Given the description of an element on the screen output the (x, y) to click on. 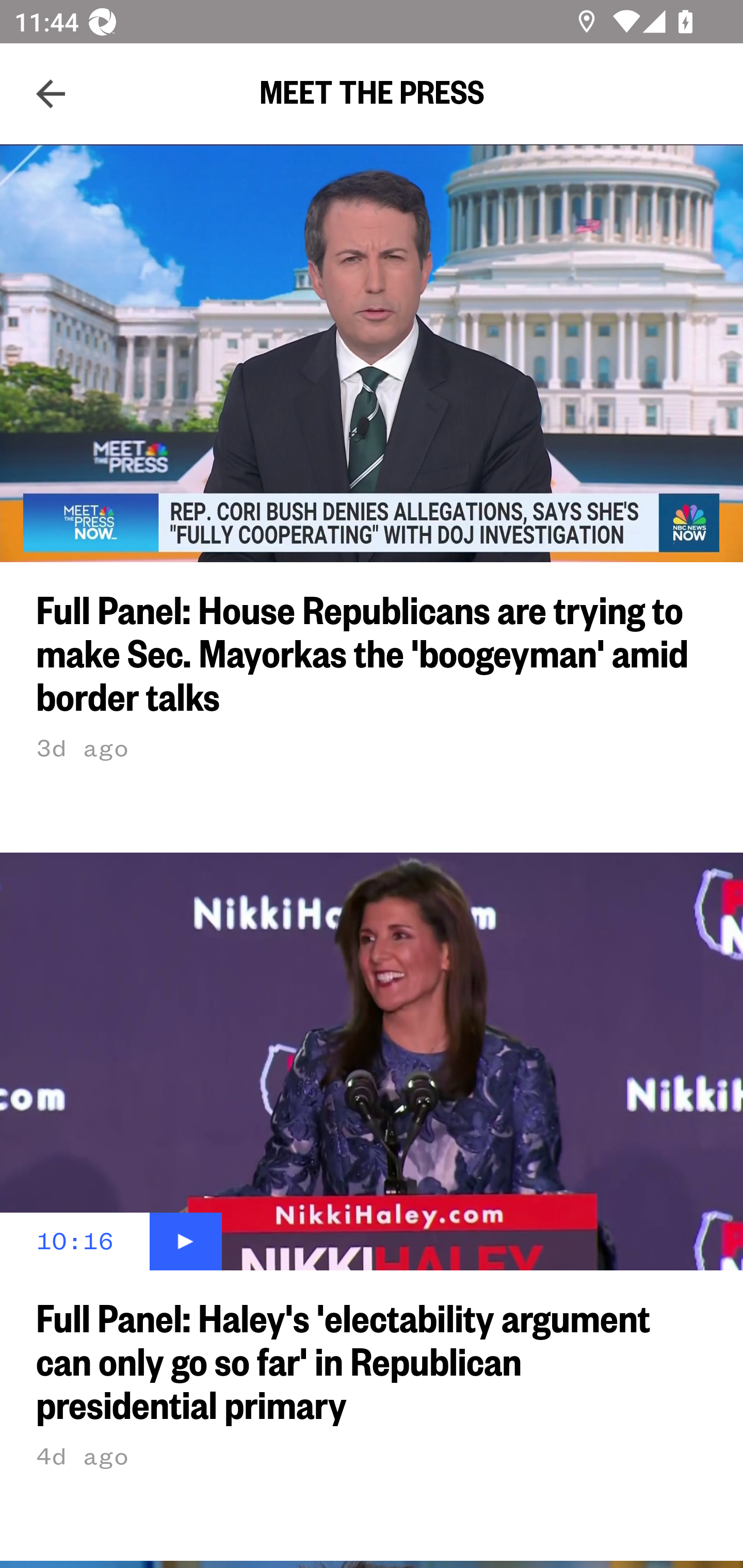
Navigate up (50, 93)
